Given the description of an element on the screen output the (x, y) to click on. 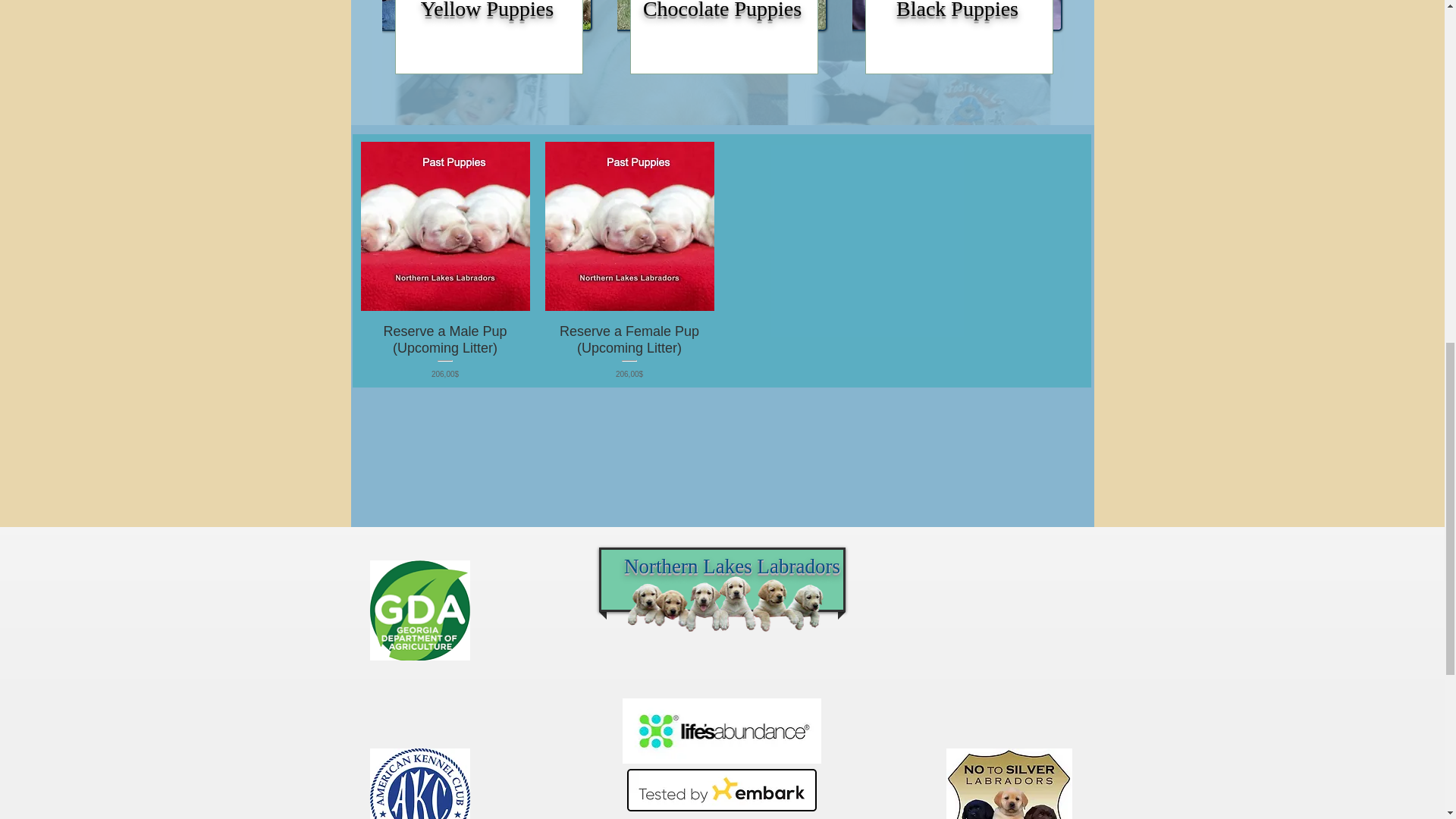
Life's Abundance Dog Food Logo (721, 730)
